Given the description of an element on the screen output the (x, y) to click on. 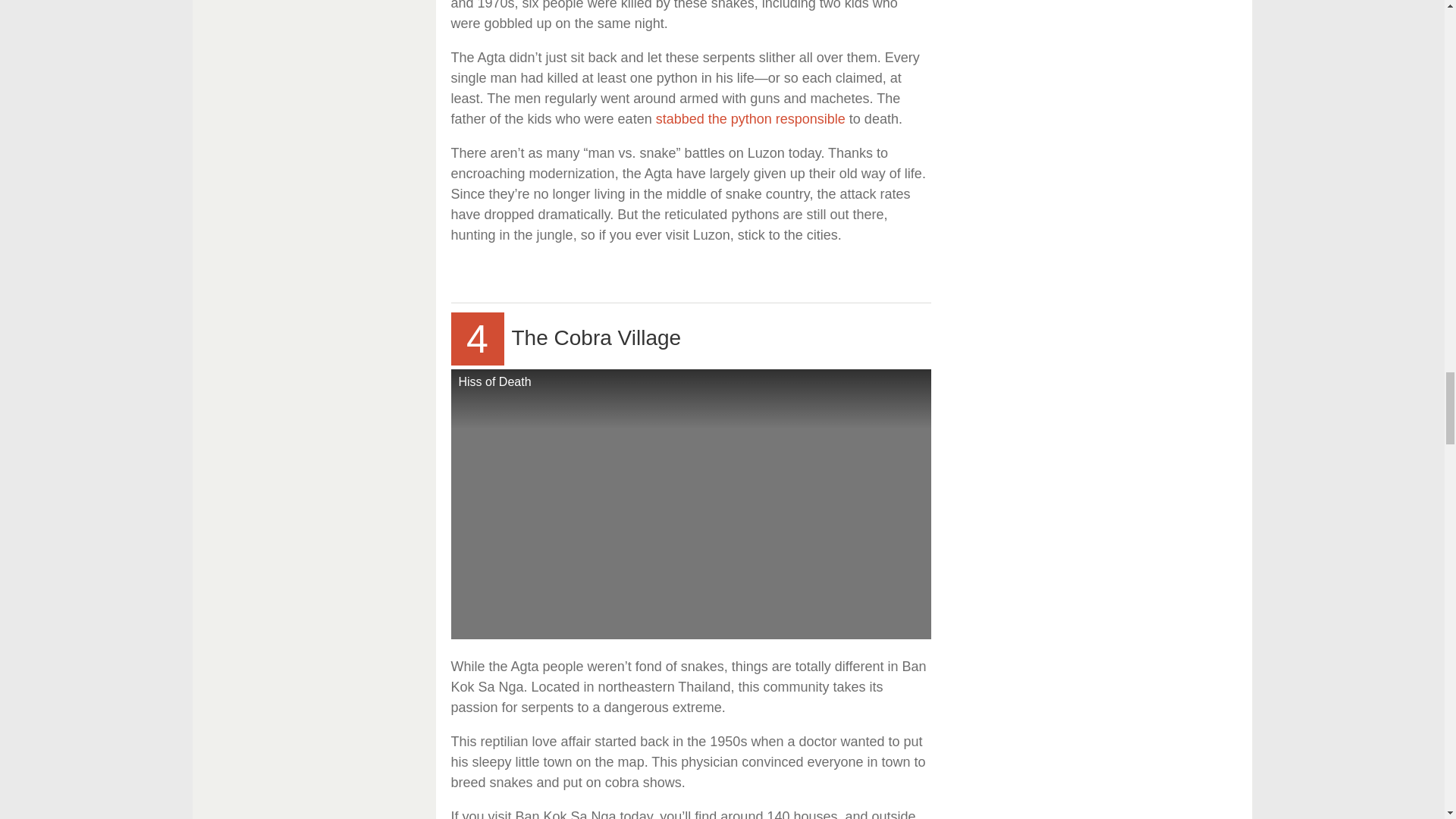
Hiss of Death (689, 504)
